Given the description of an element on the screen output the (x, y) to click on. 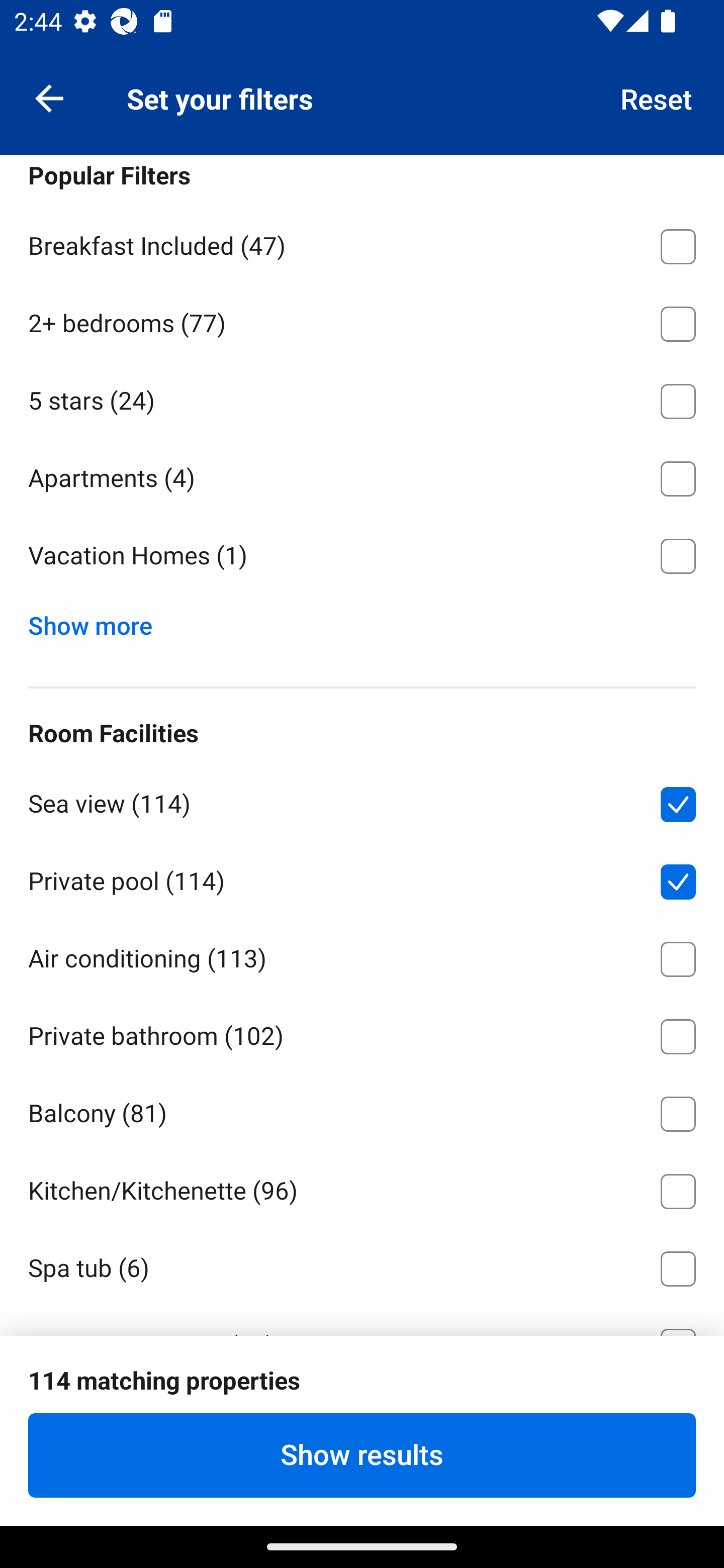
Navigate up (49, 97)
Reset (656, 97)
Breakfast Included ⁦(47) (361, 242)
2+ bedrooms ⁦(77) (361, 320)
5 stars ⁦(24) (361, 398)
Apartments ⁦(4) (361, 475)
Vacation Homes ⁦(1) (361, 556)
Show more (97, 621)
Sea view ⁦(114) (361, 801)
Private pool ⁦(114) (361, 878)
Air conditioning ⁦(113) (361, 955)
Private bathroom ⁦(102) (361, 1033)
Balcony ⁦(81) (361, 1110)
Kitchen/Kitchenette ⁦(96) (361, 1187)
Spa tub ⁦(6) (361, 1265)
Show results (361, 1454)
